Given the description of an element on the screen output the (x, y) to click on. 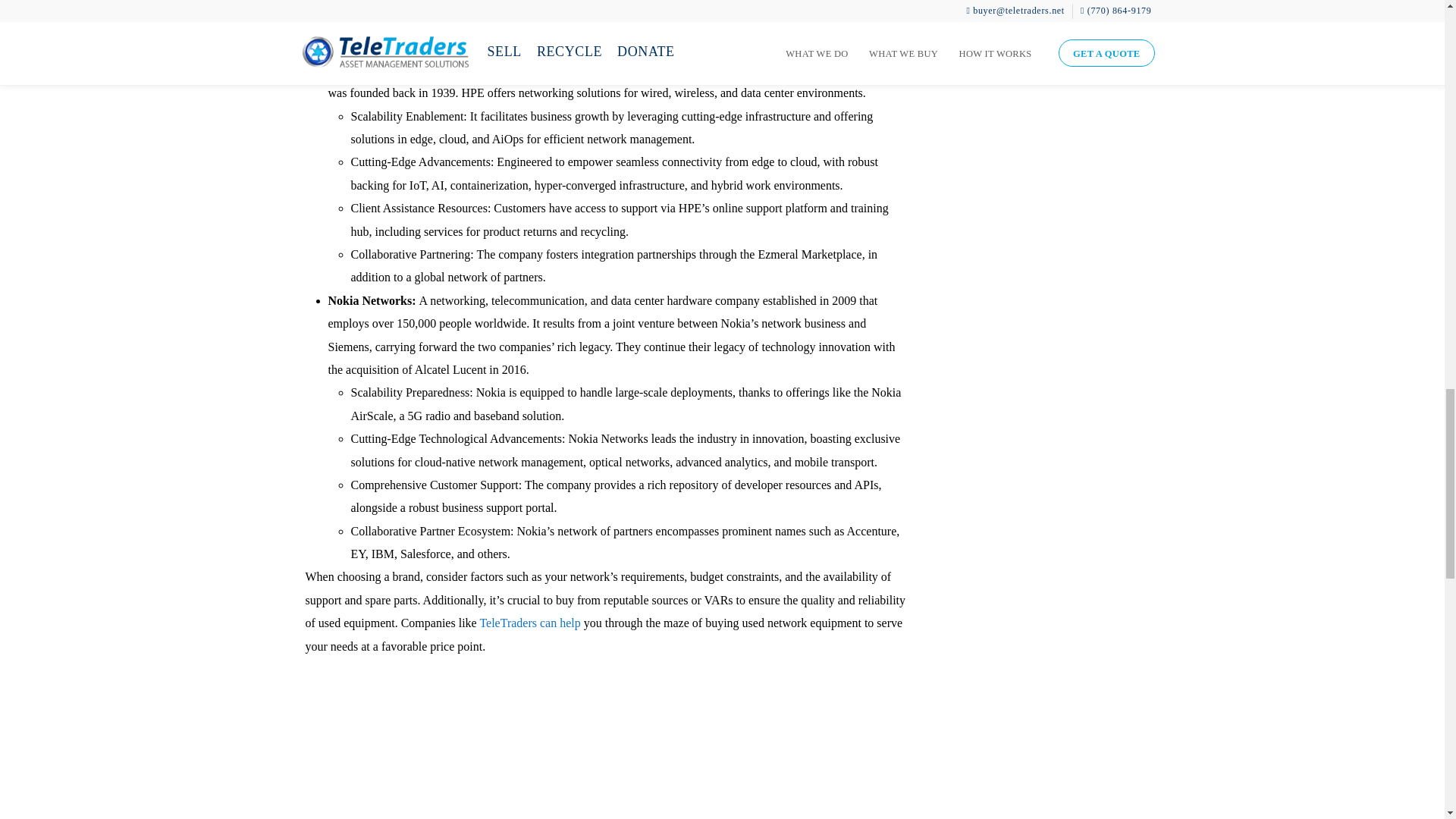
TeleTraders can help (529, 622)
